Given the description of an element on the screen output the (x, y) to click on. 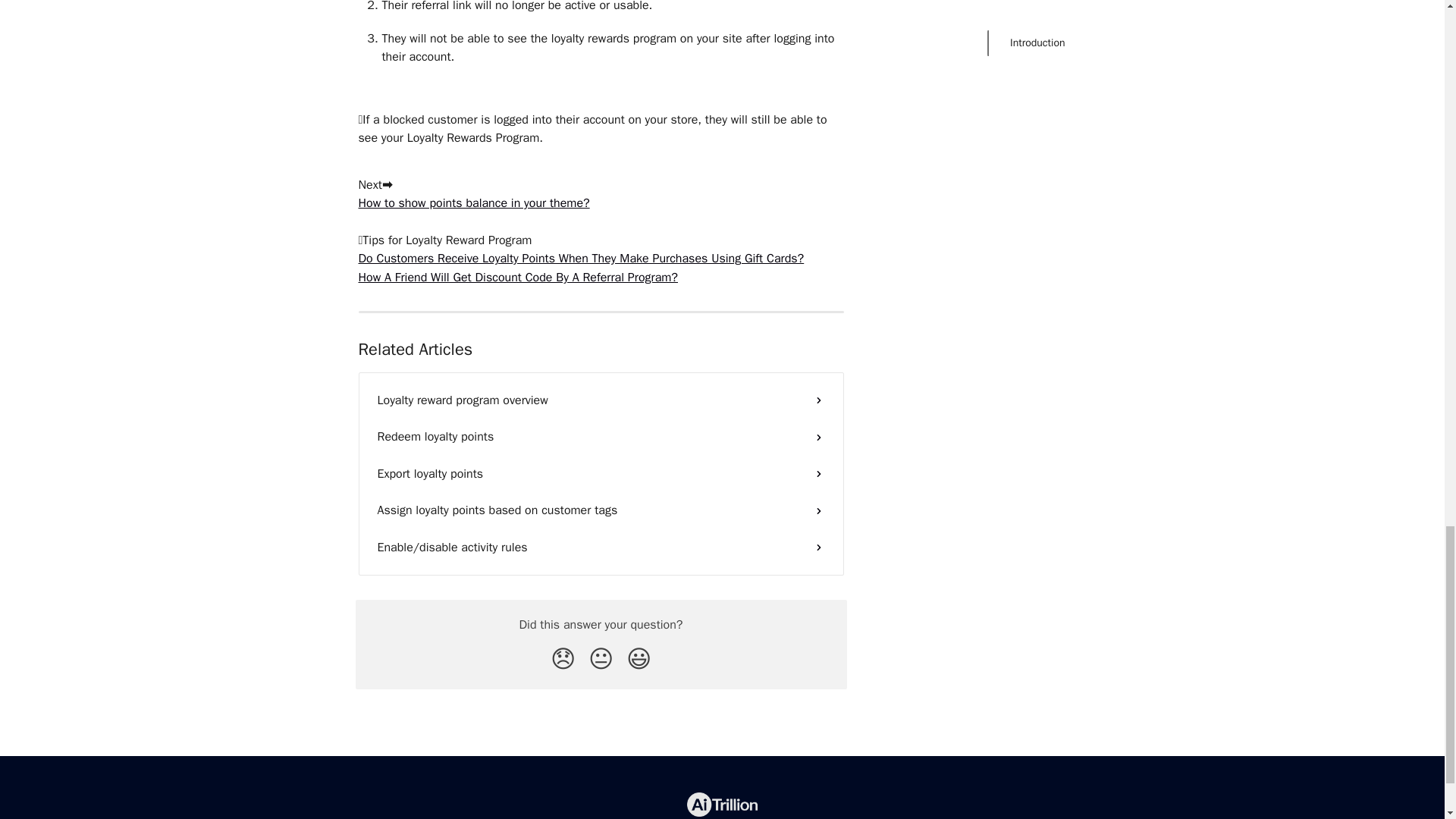
Redeem loyalty points (601, 436)
Export loyalty points (601, 473)
How A Friend Will Get Discount Code By A Referral Program? (517, 277)
How to show points balance in your theme? (473, 202)
Assign loyalty points based on customer tags (601, 510)
Loyalty reward program overview (601, 400)
